Given the description of an element on the screen output the (x, y) to click on. 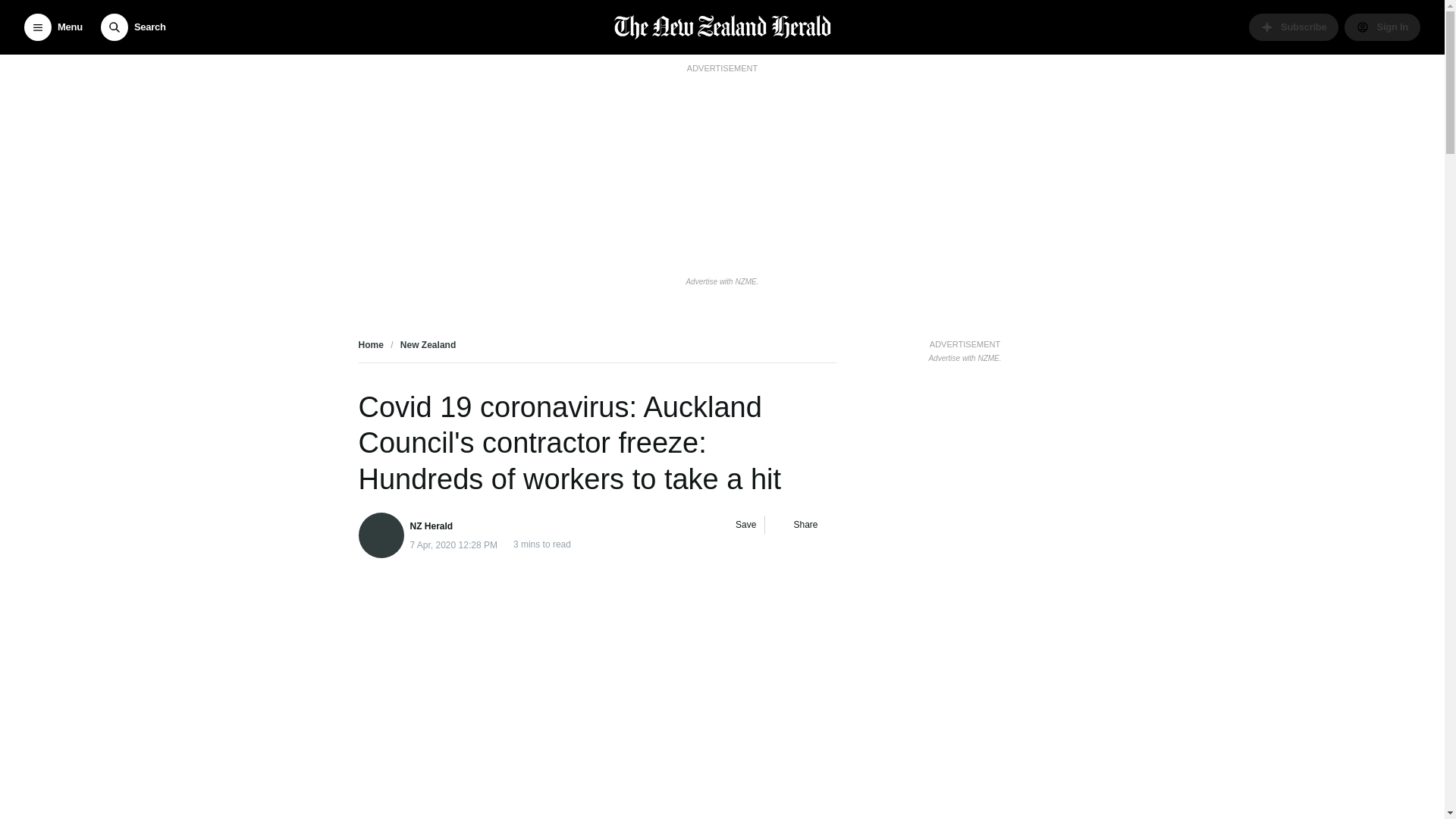
Subscribe (1294, 26)
Sign In (1382, 26)
Manage your account (1382, 26)
Search (132, 26)
Menu (53, 26)
